Given the description of an element on the screen output the (x, y) to click on. 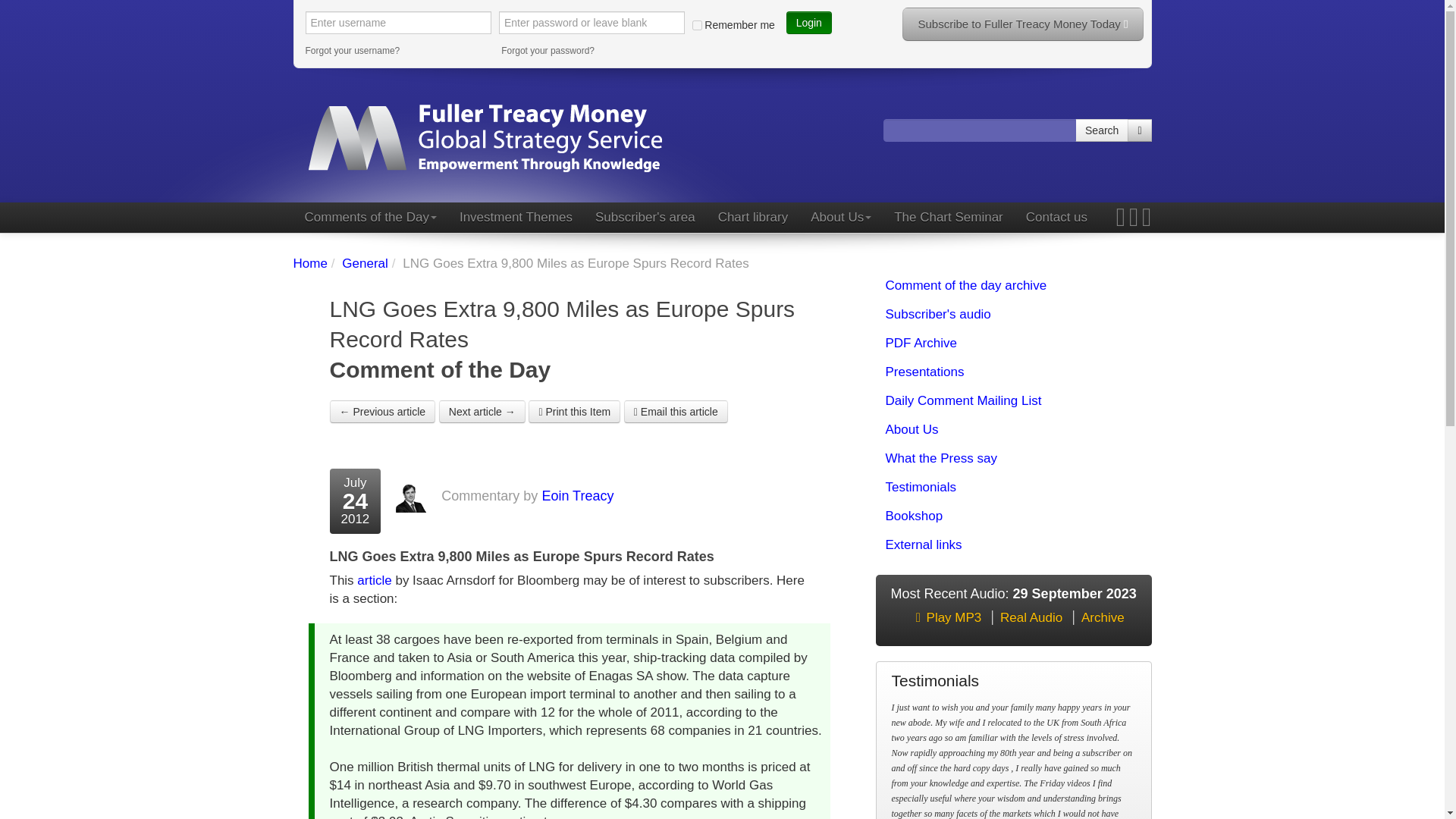
Subscriber's area (644, 217)
Investment Themes (515, 217)
Forgot your password? (593, 50)
Login (808, 22)
Comments of the Day (369, 217)
Forgot your username? (397, 50)
About Us (840, 217)
article (373, 580)
Email this article (676, 411)
Subscribe to Fuller Treacy Money Today (1022, 23)
